Given the description of an element on the screen output the (x, y) to click on. 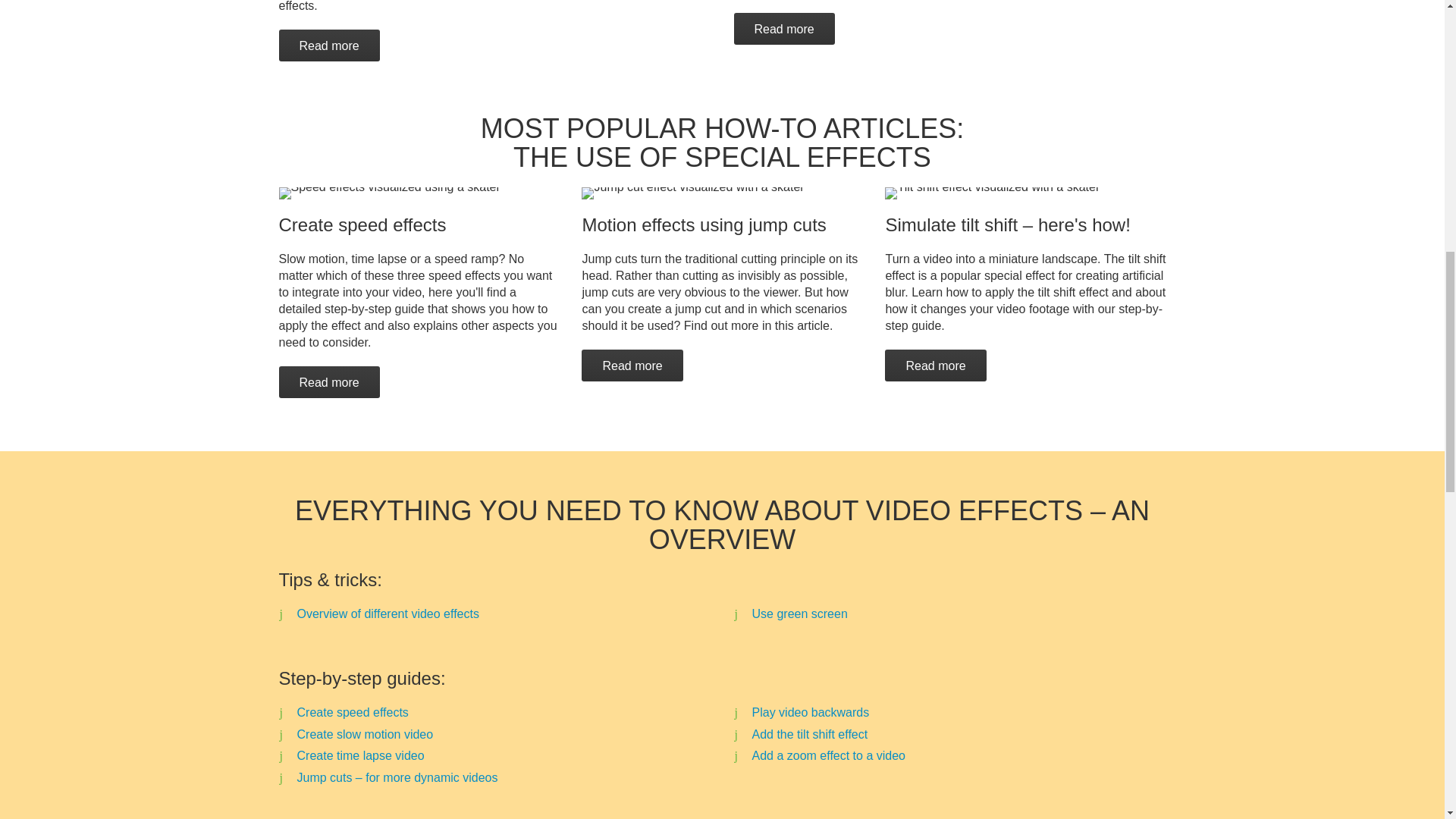
Jump cut effect visualized with a skater (691, 193)
Time lapse visualized using the image of a skater (389, 193)
Tilt shift effect visualized with a skater (992, 193)
